Given the description of an element on the screen output the (x, y) to click on. 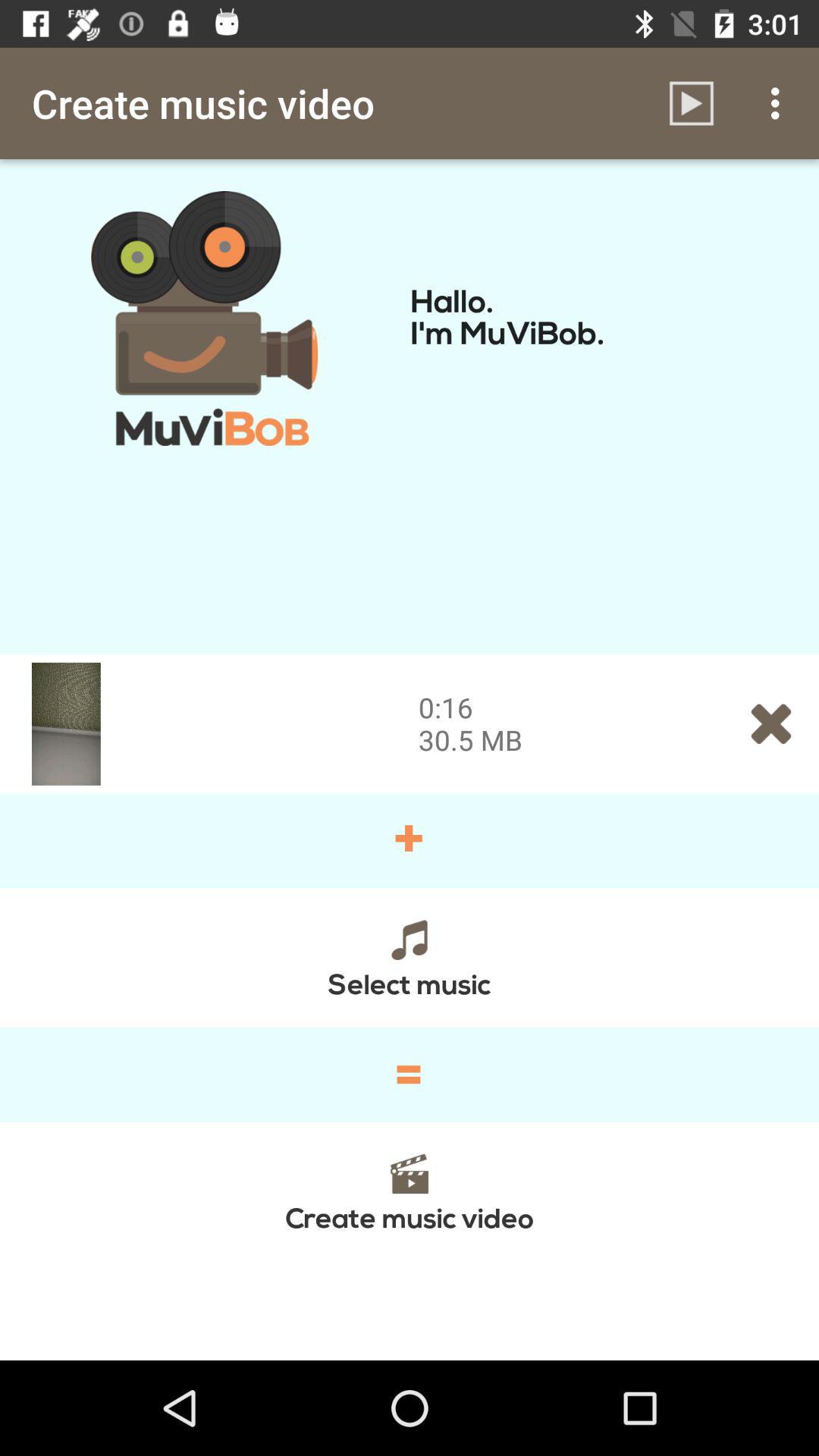
click icon to the right of create music video icon (691, 103)
